Given the description of an element on the screen output the (x, y) to click on. 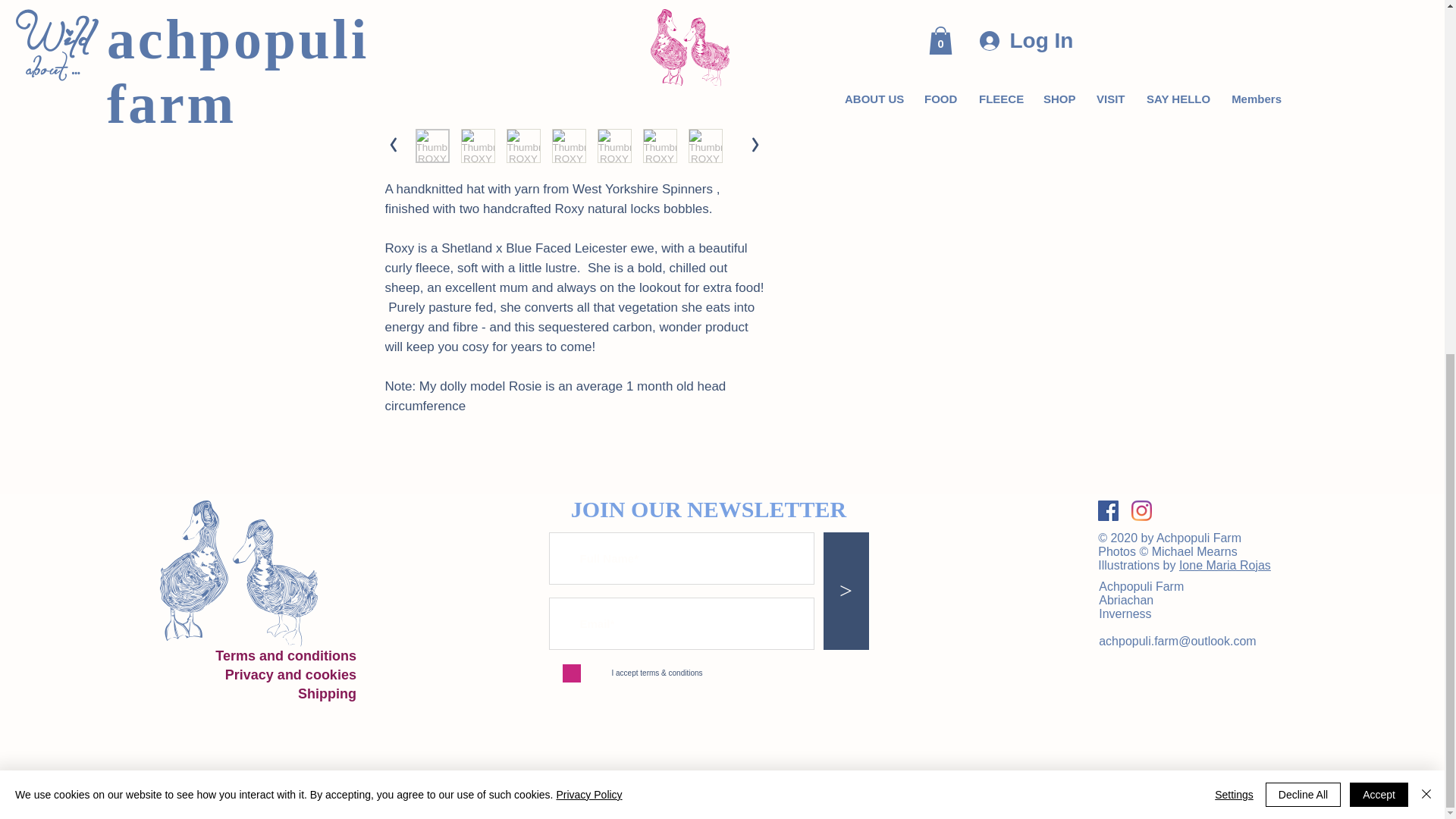
Terms and conditions (285, 655)
Shipping (327, 693)
Privacy and cookies (290, 674)
